Given the description of an element on the screen output the (x, y) to click on. 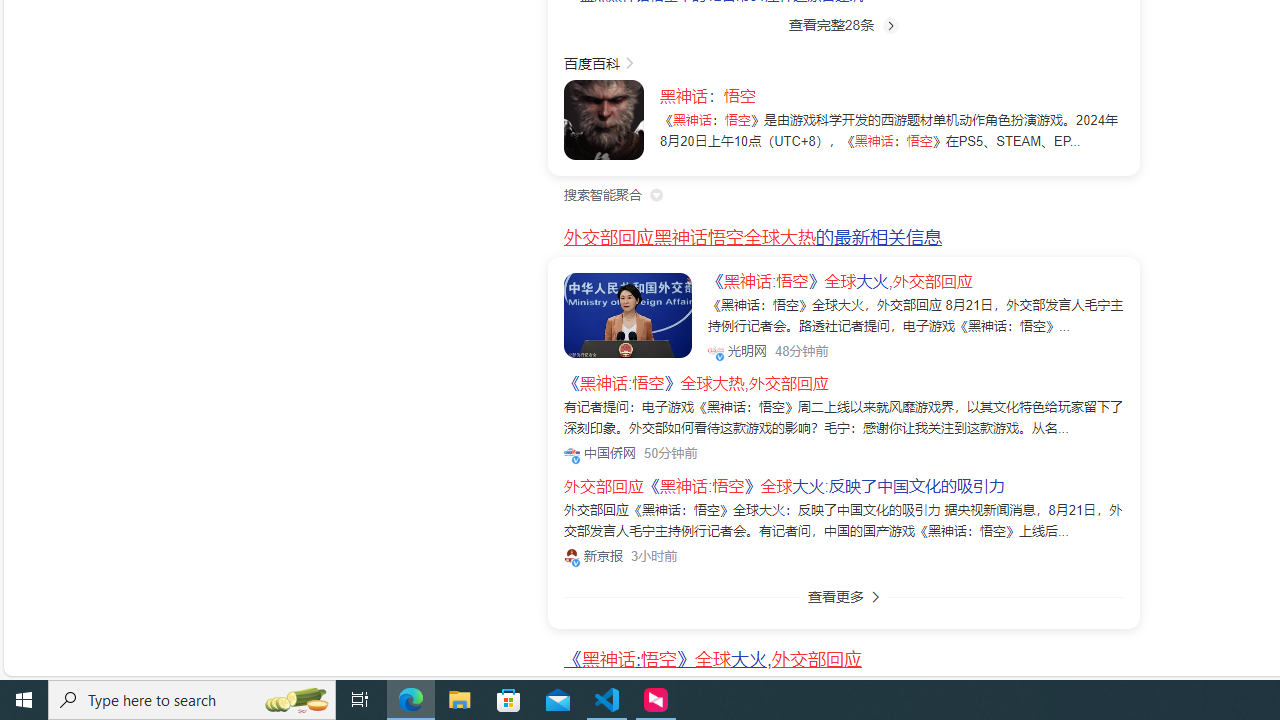
Class: c-img c-img-radius-large (628, 314)
